Given the description of an element on the screen output the (x, y) to click on. 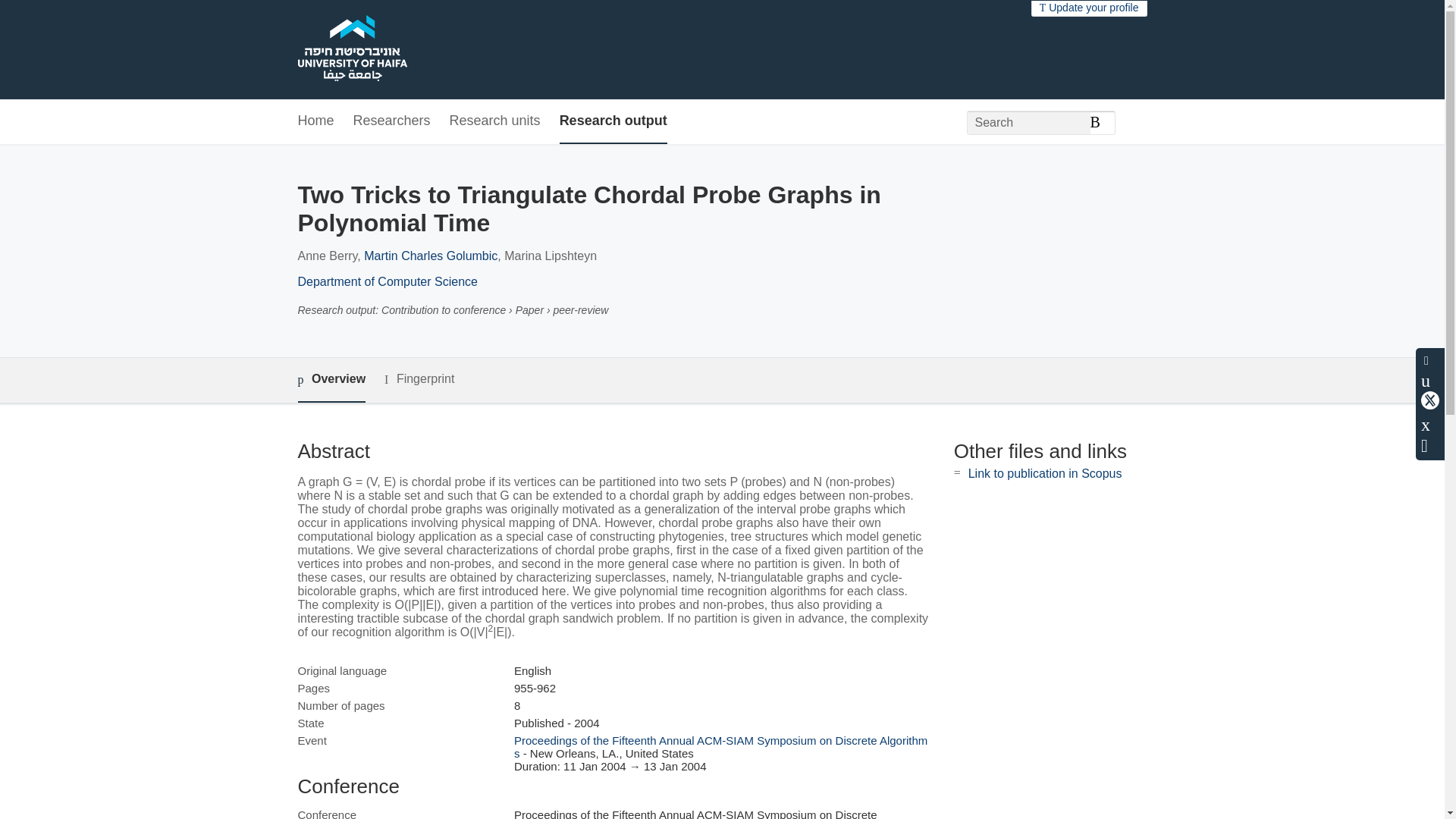
Researchers (391, 121)
University of Haifa Home (351, 49)
Research output (612, 121)
Research units (494, 121)
Fingerprint (419, 379)
Link to publication in Scopus (1045, 472)
Overview (331, 379)
Department of Computer Science (387, 281)
